Given the description of an element on the screen output the (x, y) to click on. 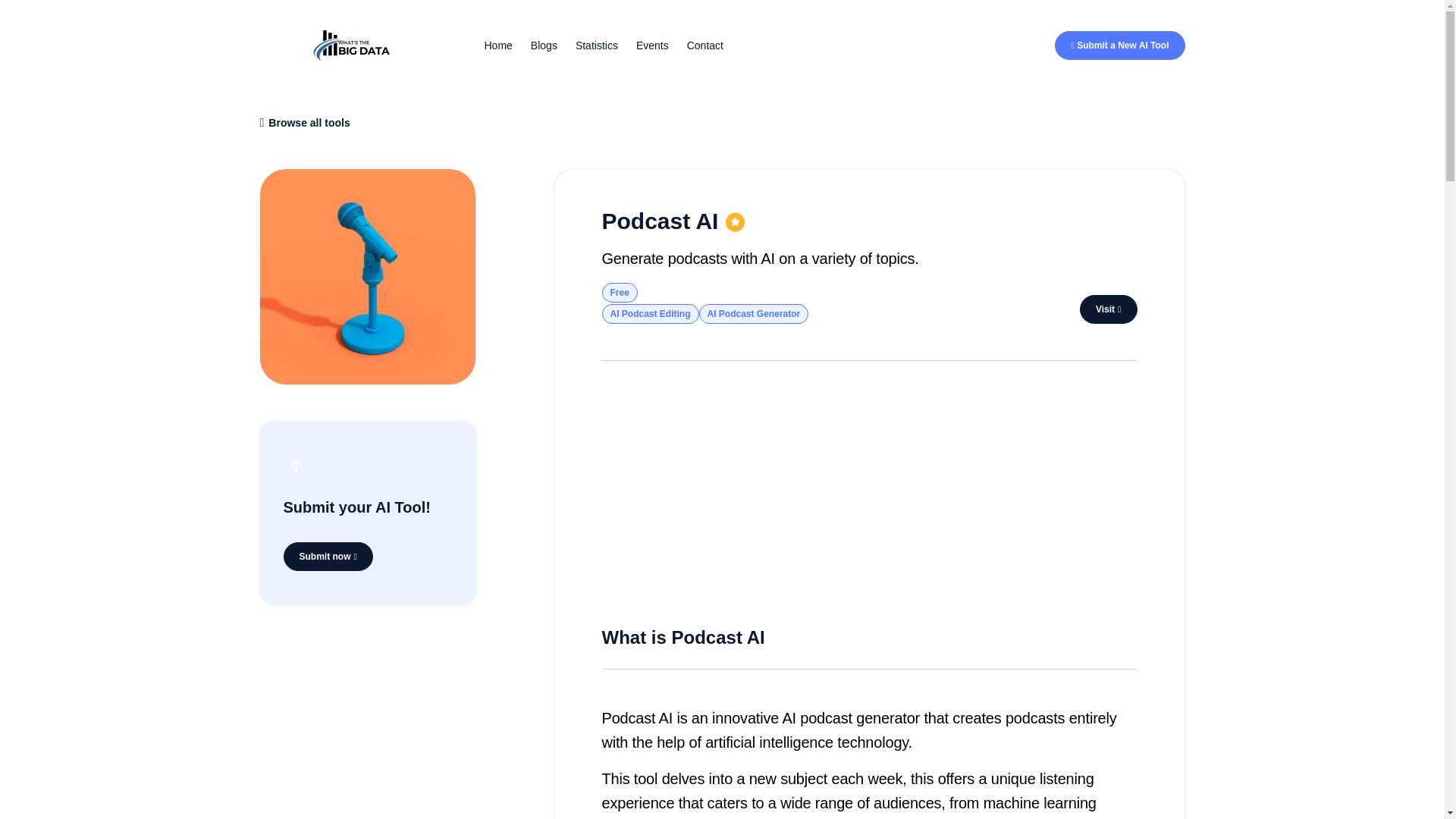
Free (619, 292)
Home (497, 45)
Events (652, 45)
AI Podcast Generator (753, 313)
AI Podcast Editing (650, 313)
Statistics (596, 45)
Contact (705, 45)
Blogs (544, 45)
